Given the description of an element on the screen output the (x, y) to click on. 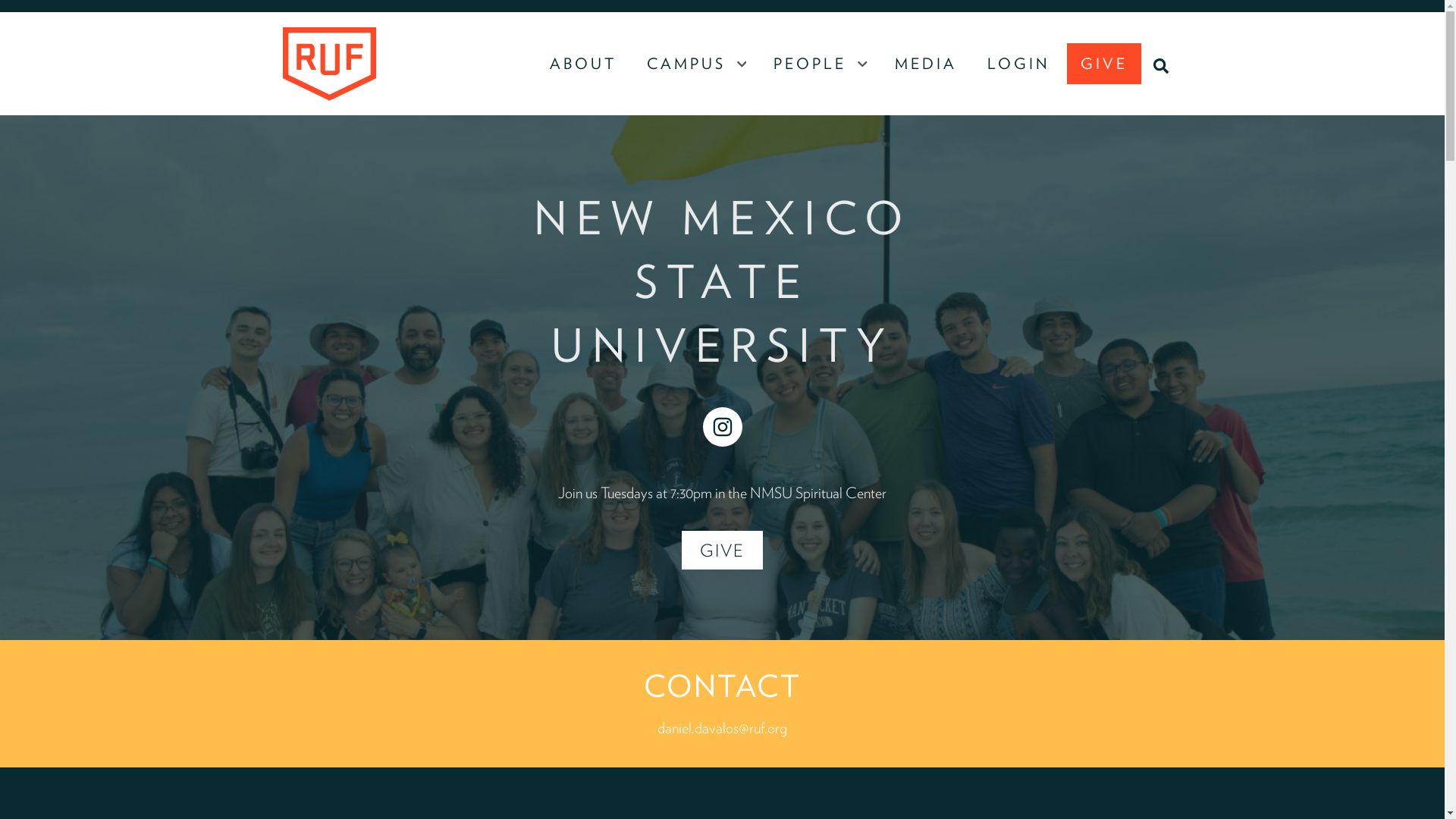
Reformed University Fellowship (328, 63)
instagram (721, 426)
MENU (741, 63)
ABOUT (582, 63)
GIVE (1102, 63)
PEOPLE (810, 63)
CAMPUS (687, 63)
LOGIN (1019, 63)
MEDIA (925, 63)
SEARCH (1159, 63)
MENU (862, 63)
GIVE (721, 549)
